Given the description of an element on the screen output the (x, y) to click on. 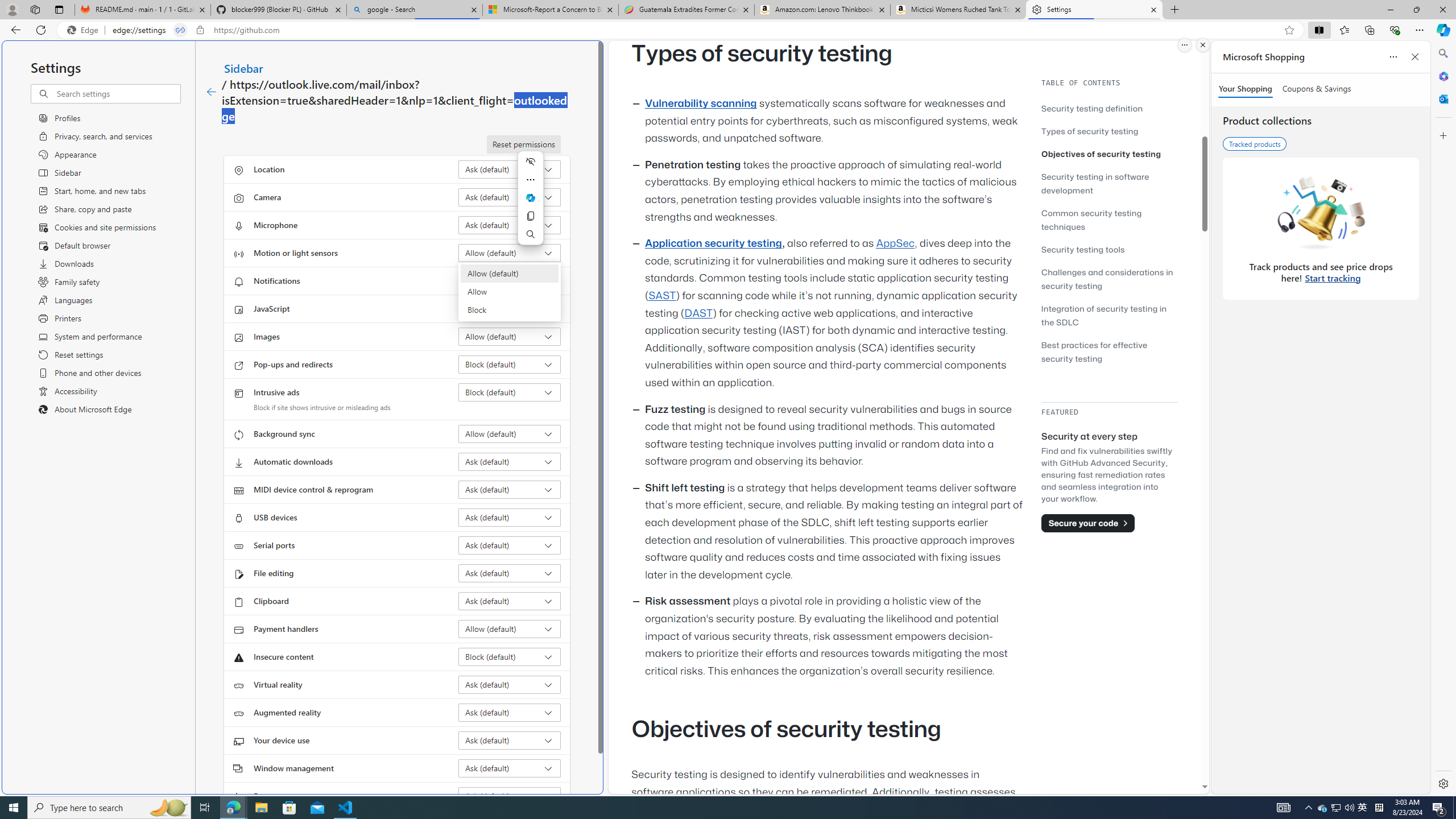
Integration of security testing in the SDLC (1104, 314)
Common security testing techniques (1091, 219)
Hide menu (530, 161)
Security testing tools (1083, 248)
Mini menu on text selection (530, 204)
Application security testing (713, 243)
Pop-ups and redirects Block (default) (509, 364)
Allow (509, 291)
Background sync Allow (default) (509, 434)
Location Ask (default) (509, 169)
Integration of security testing in the SDLC (1109, 315)
Settings and more (Alt+F) (1419, 29)
JavaScript Allow (default) (509, 308)
